Given the description of an element on the screen output the (x, y) to click on. 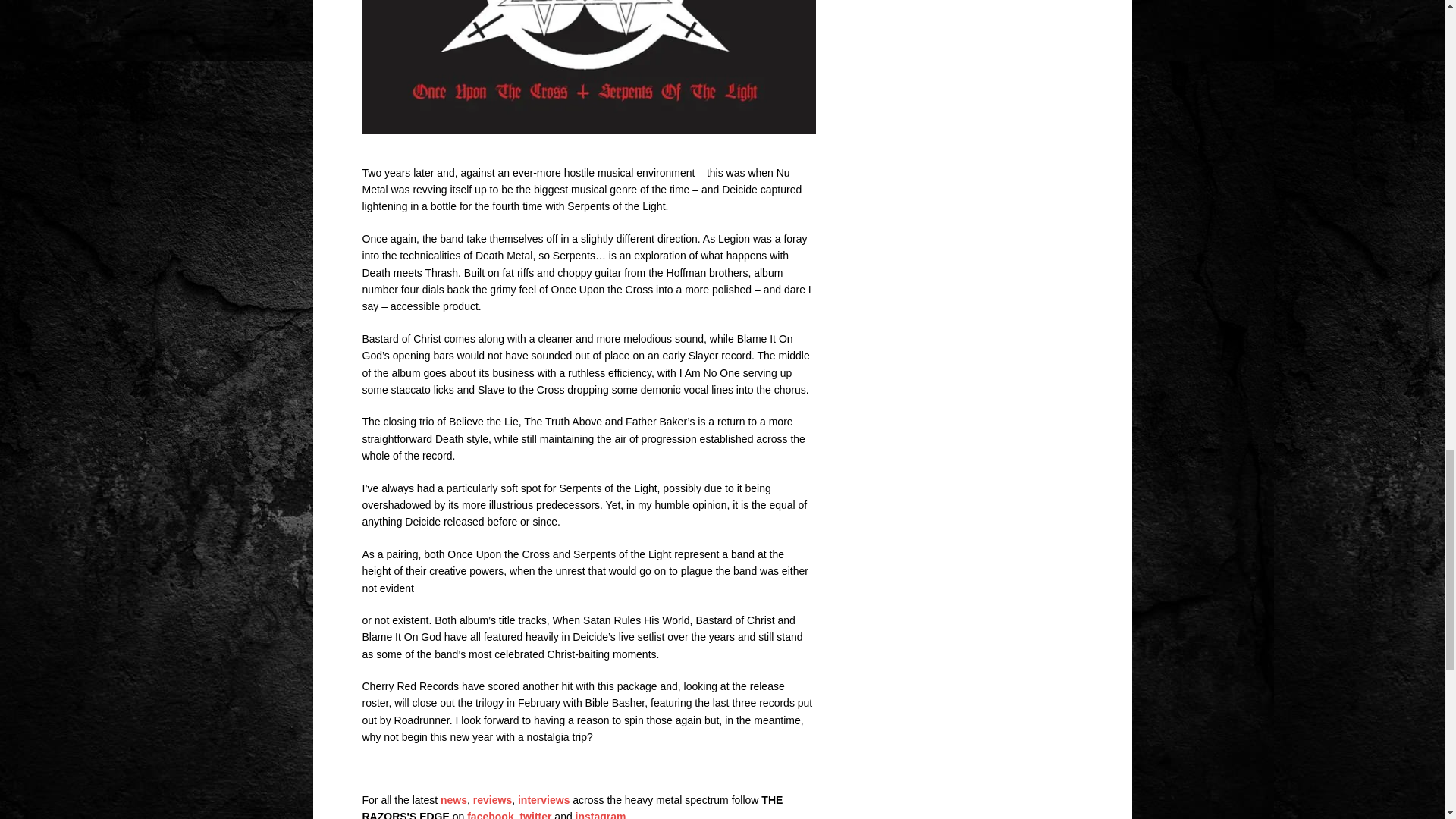
facebook (490, 814)
instagram (600, 814)
reviews (492, 799)
news (454, 799)
twitter (535, 814)
interviews (543, 799)
